Given the description of an element on the screen output the (x, y) to click on. 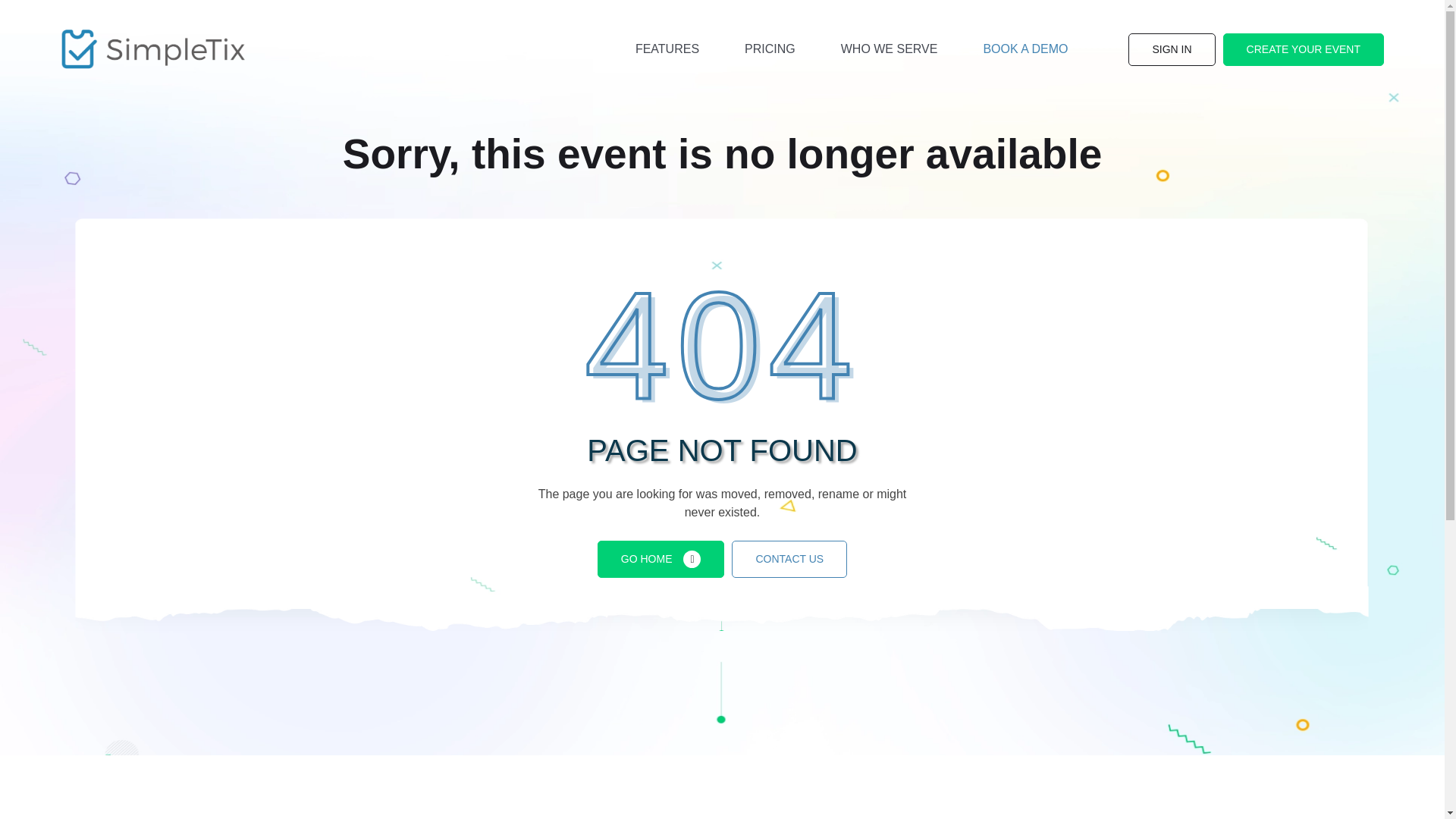
CONTACT US (789, 559)
CREATE YOUR EVENT (1303, 49)
BOOK A DEMO (1024, 49)
FEATURES (667, 49)
PRICING (770, 49)
GO HOME (660, 559)
SIGN IN (1171, 49)
WHO WE SERVE (889, 49)
